Given the description of an element on the screen output the (x, y) to click on. 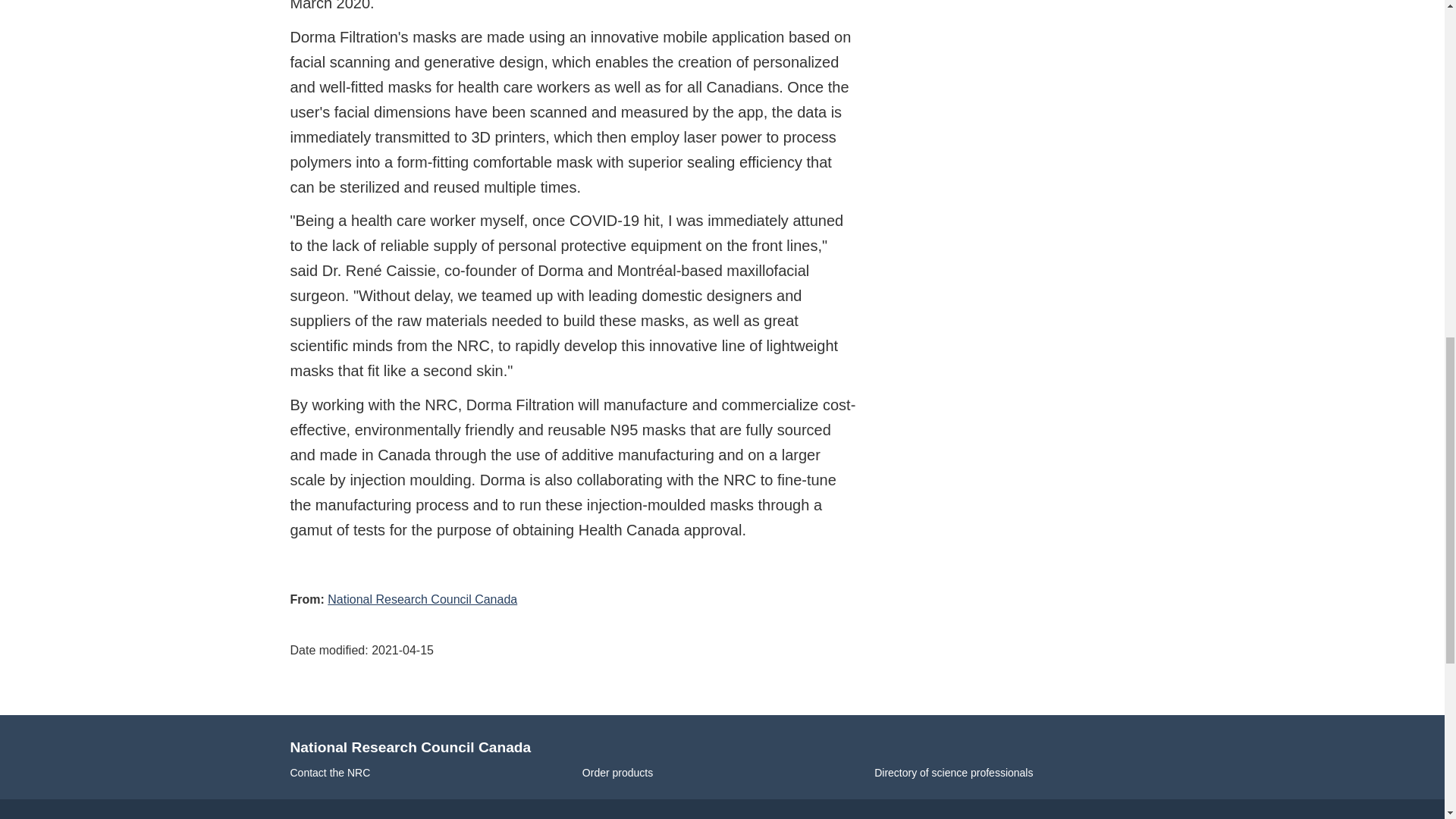
Order products (617, 772)
Directory of science professionals (953, 772)
Contact the NRC (329, 772)
National Research Council Canada (421, 599)
